Given the description of an element on the screen output the (x, y) to click on. 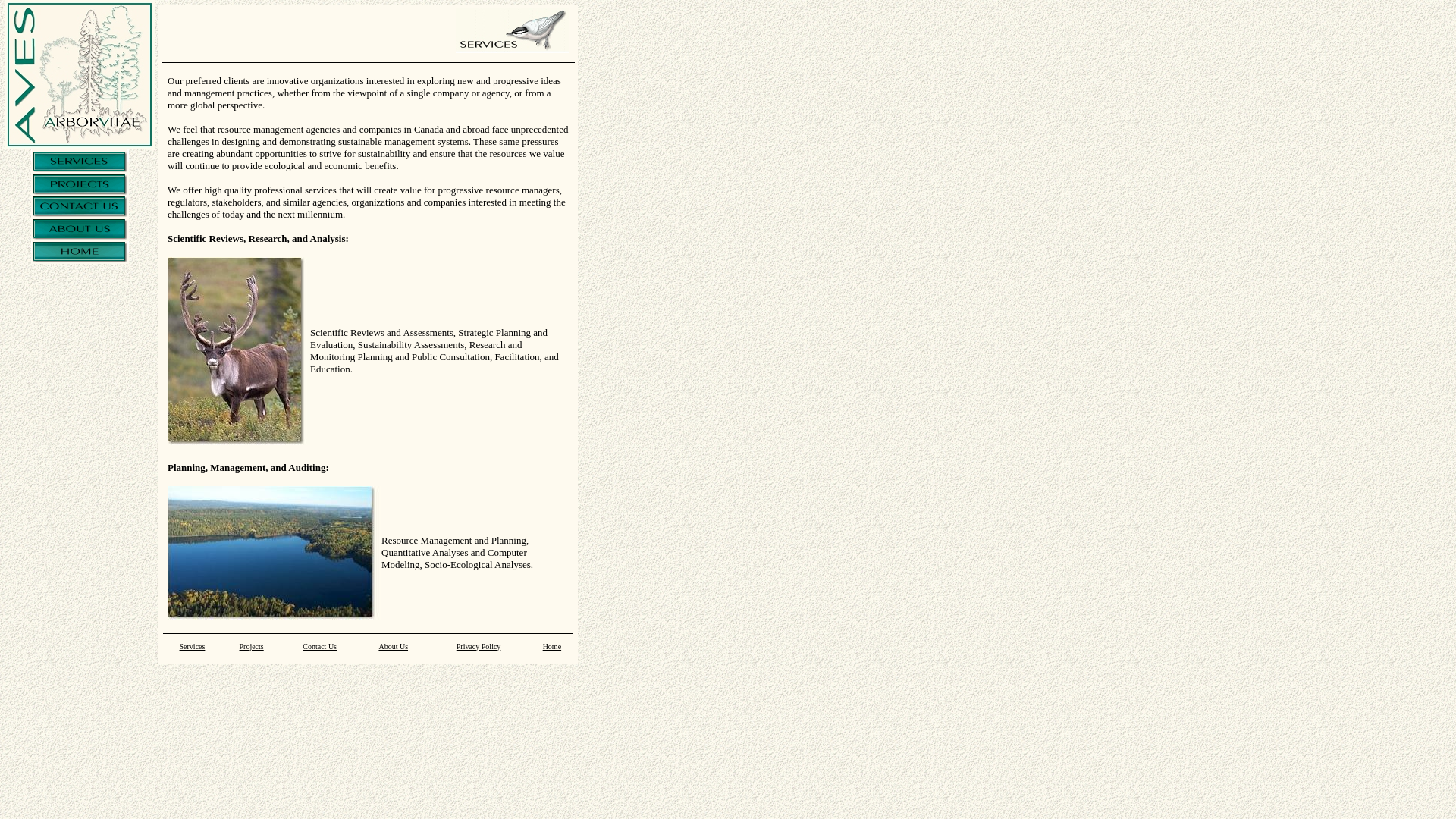
About Us Element type: text (392, 649)
Scientific Reviews, Research, and Analysis: Element type: text (257, 238)
Planning, Management, and Auditing: Element type: text (248, 466)
Projects Element type: text (251, 649)
Privacy Policy Element type: text (478, 649)
Services Element type: text (192, 649)
Home Element type: text (551, 649)
Contact Us Element type: text (319, 649)
